Given the description of an element on the screen output the (x, y) to click on. 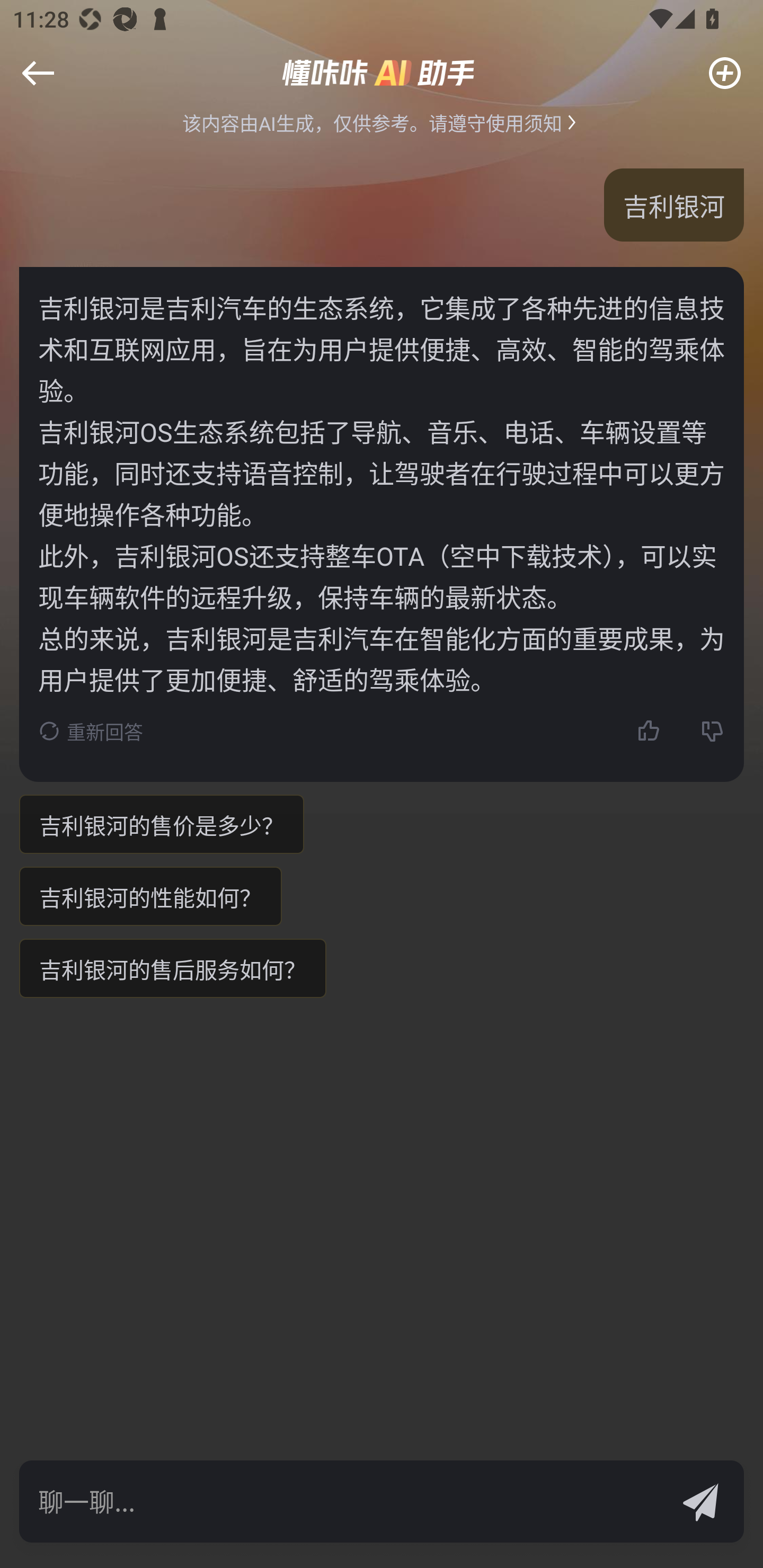
举报 (45, 85)
该内容由AI生成，仅供参考。请遵守使用须知 (381, 122)
重新回答 (90, 730)
